Given the description of an element on the screen output the (x, y) to click on. 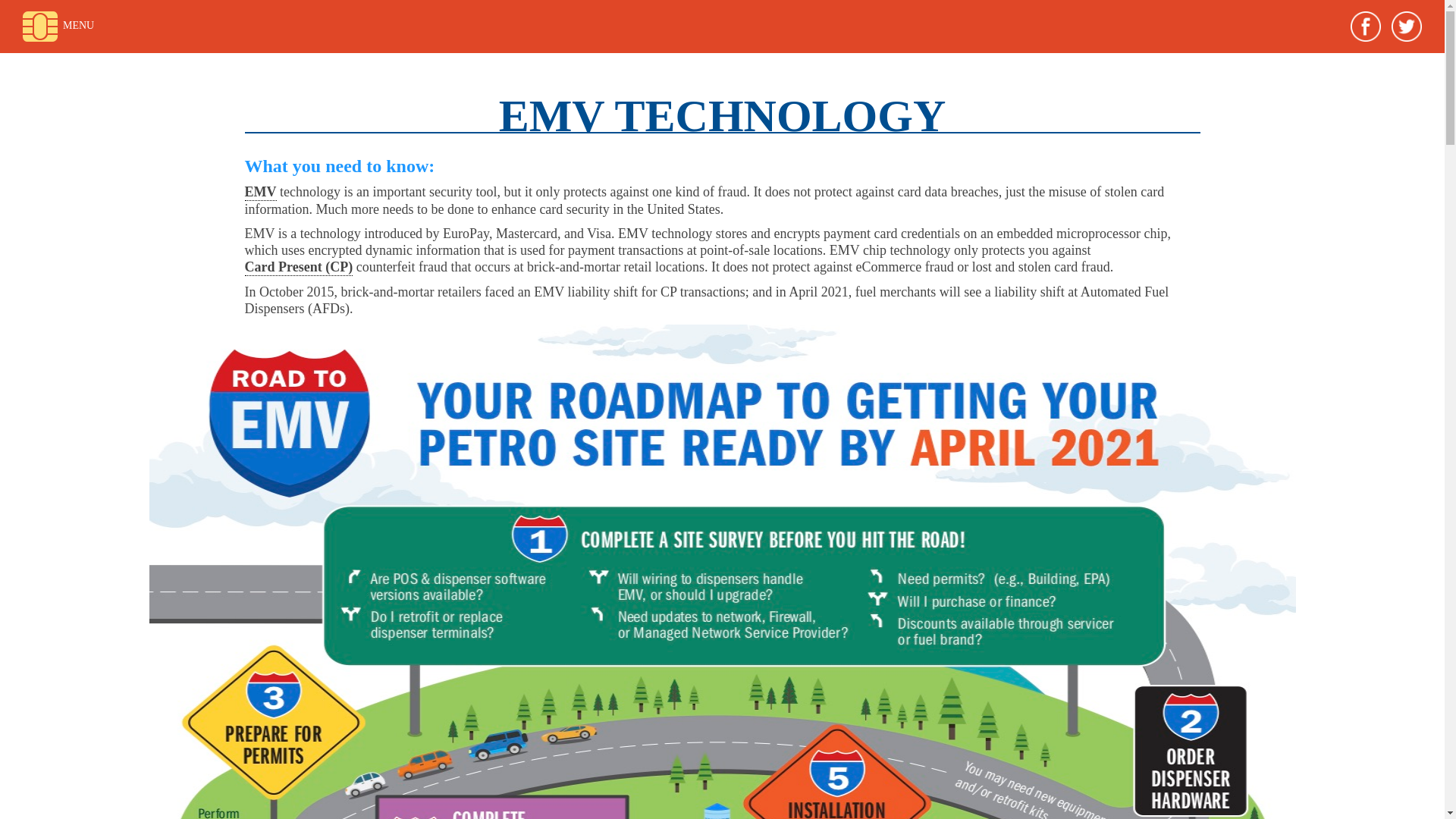
  MENU (58, 26)
